Given the description of an element on the screen output the (x, y) to click on. 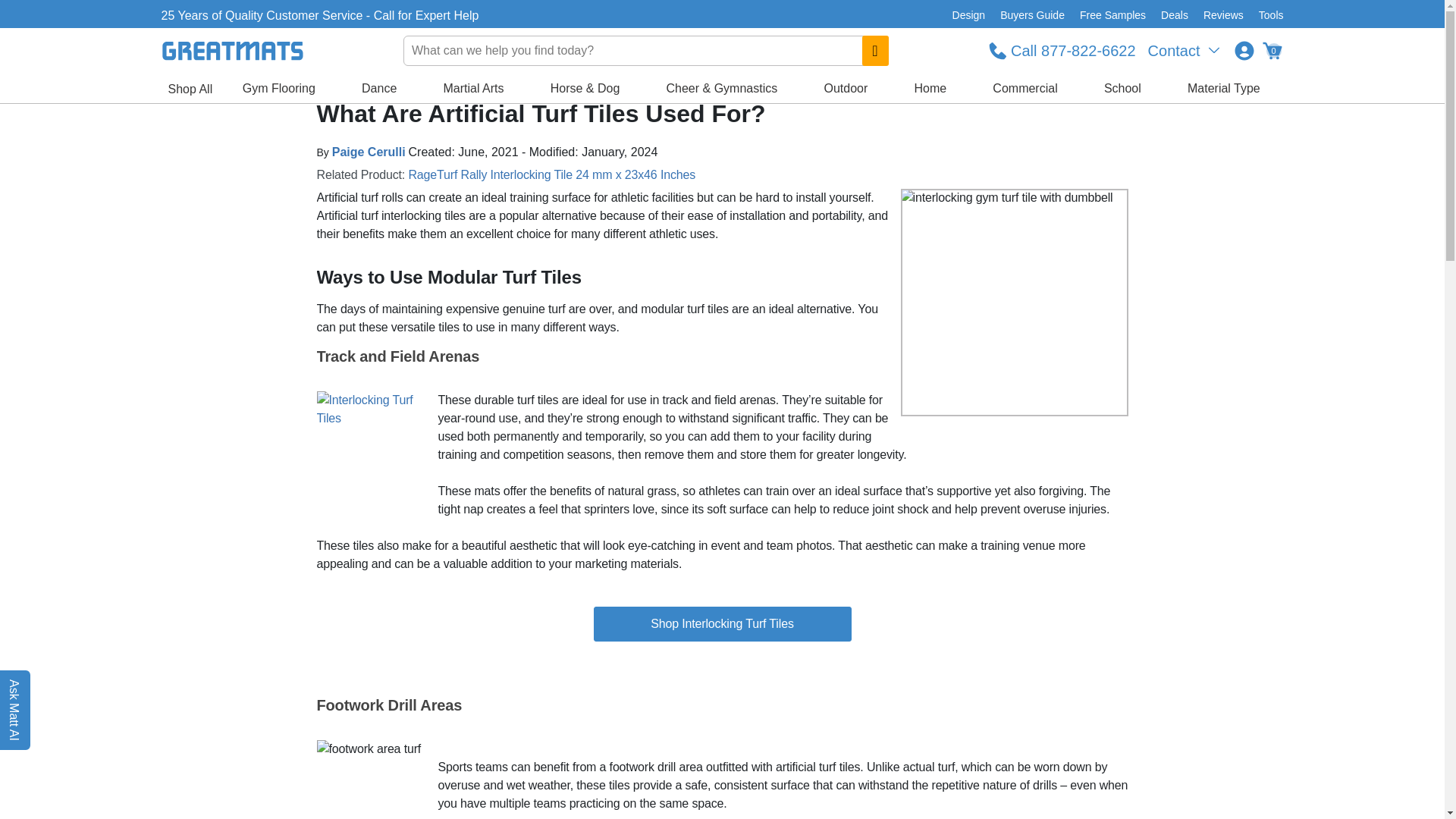
Tools (1267, 15)
Design (968, 15)
Reviews (1222, 15)
Free Samples (1112, 15)
Deals (1174, 15)
Call 877-822-6622 (1061, 50)
Shop All (189, 89)
Greatmats (300, 82)
Contact (1184, 50)
0 (1271, 50)
